Given the description of an element on the screen output the (x, y) to click on. 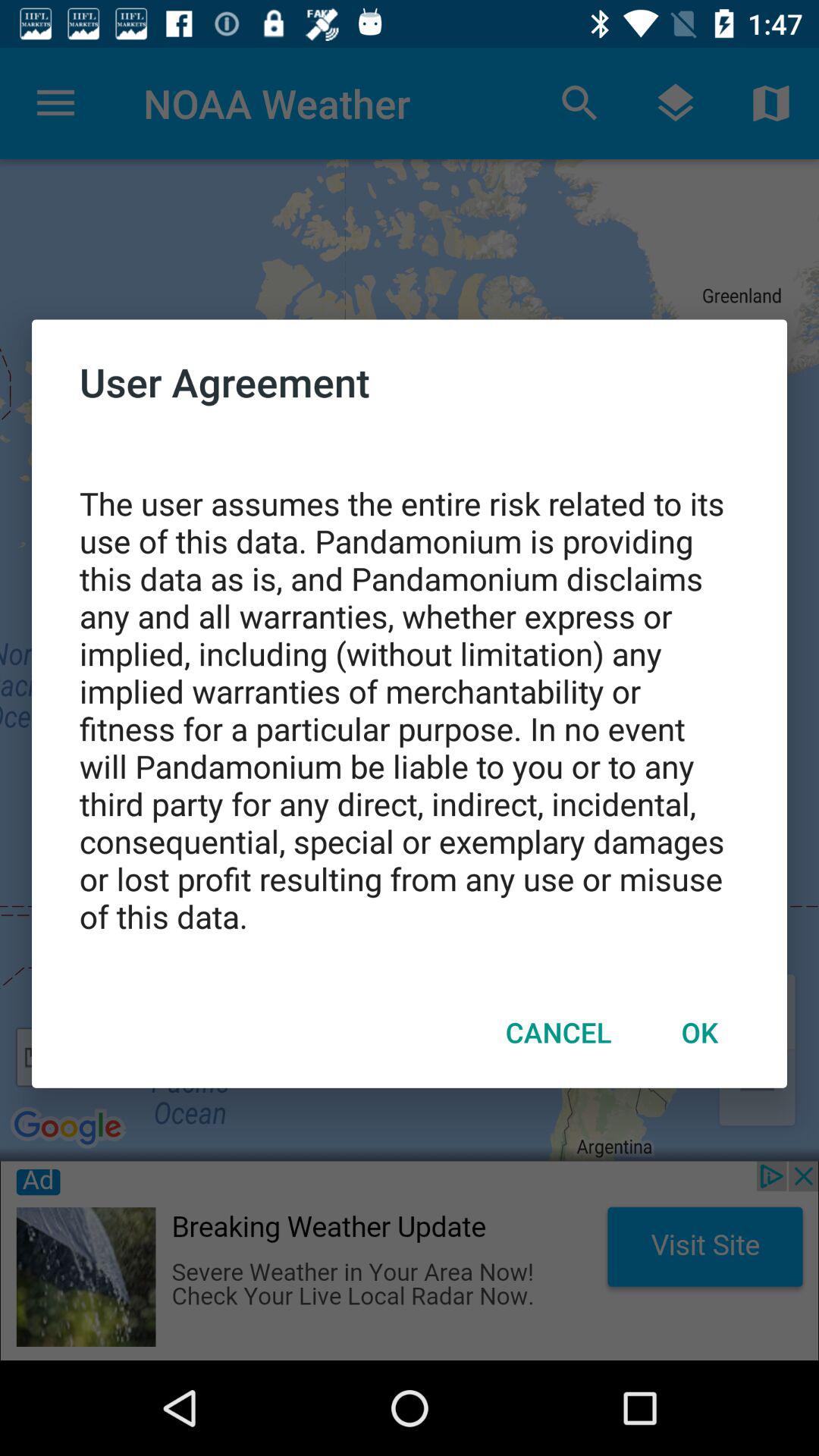
jump to the cancel item (558, 1032)
